Given the description of an element on the screen output the (x, y) to click on. 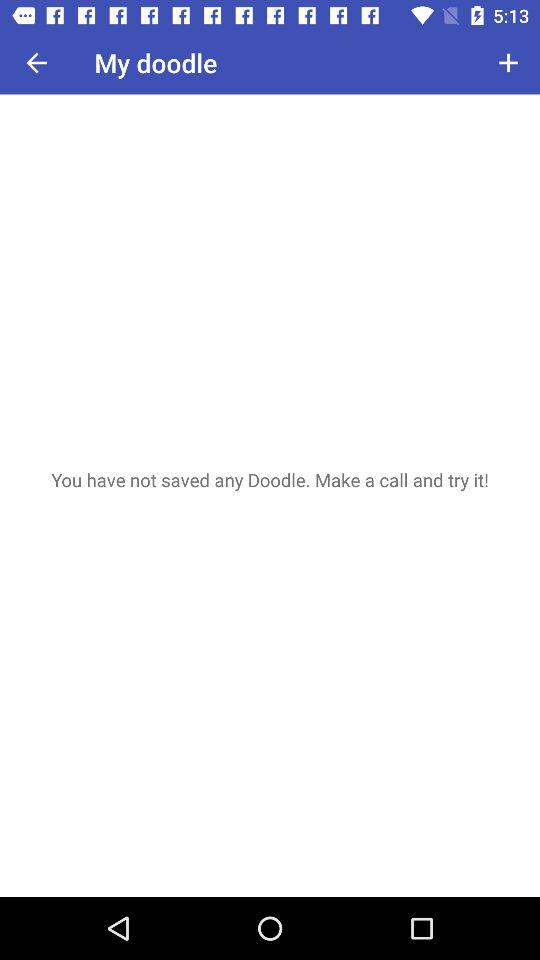
tap item to the right of my doodle icon (508, 62)
